Given the description of an element on the screen output the (x, y) to click on. 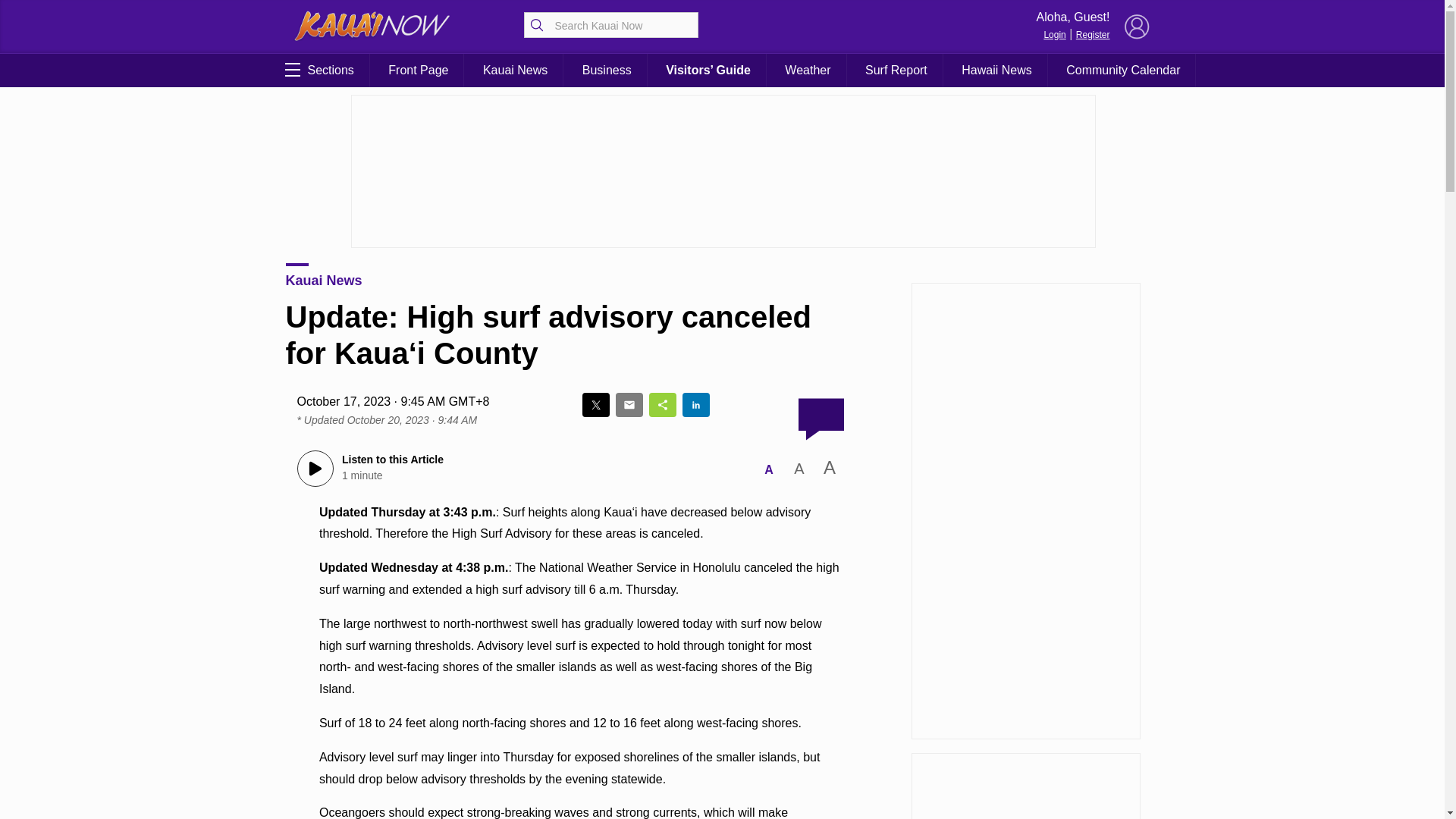
Sections (317, 70)
Register (1092, 34)
Login (1054, 34)
3rd party ad content (722, 171)
3rd party ad content (1025, 785)
Front Page (417, 70)
